Given the description of an element on the screen output the (x, y) to click on. 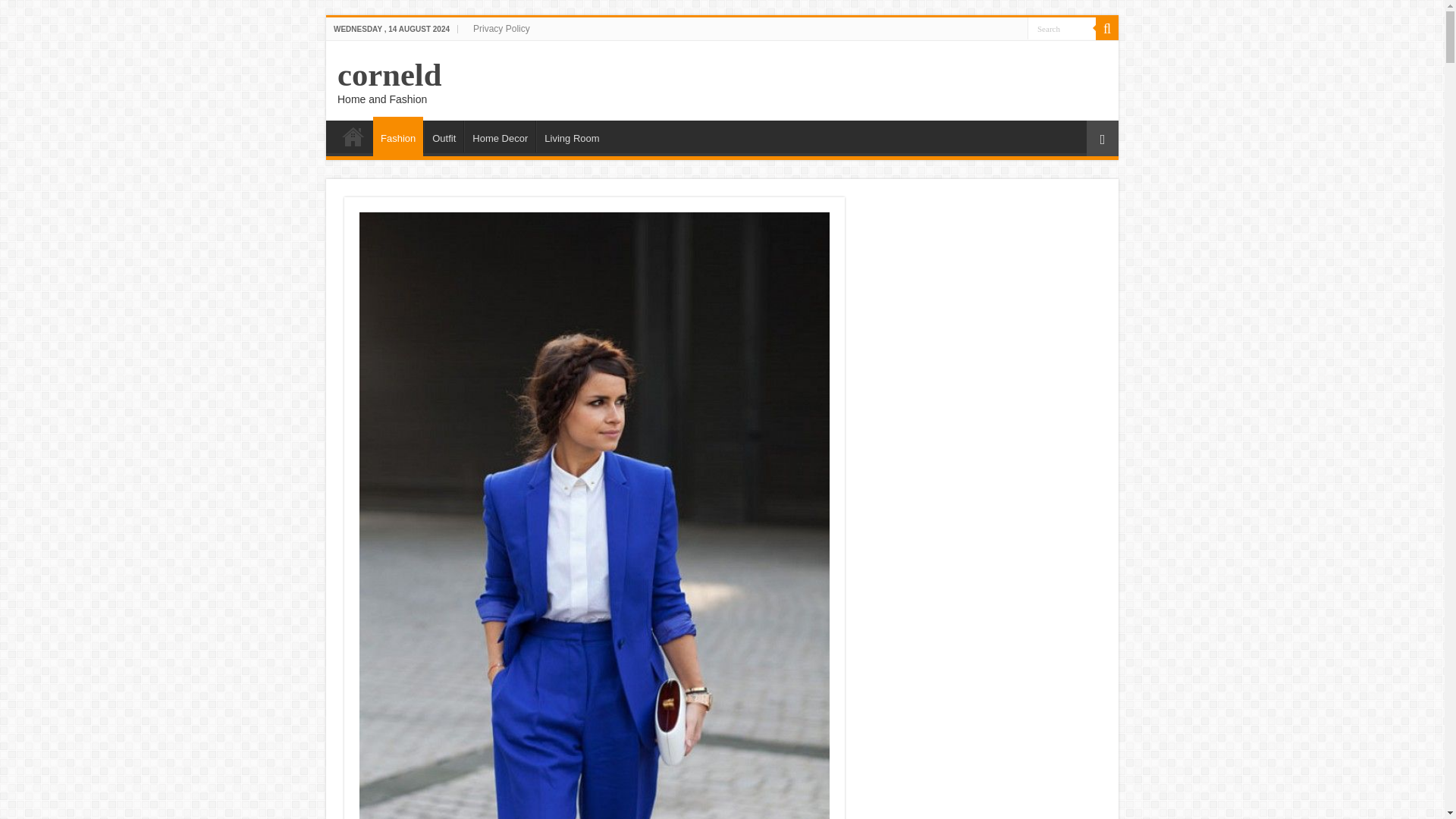
Search (1061, 28)
corneld (389, 74)
Search (1061, 28)
Living Room (571, 136)
Search (1061, 28)
Home Decor (499, 136)
Home (352, 136)
Fashion (397, 136)
Outfit (443, 136)
Privacy Policy (501, 28)
